Given the description of an element on the screen output the (x, y) to click on. 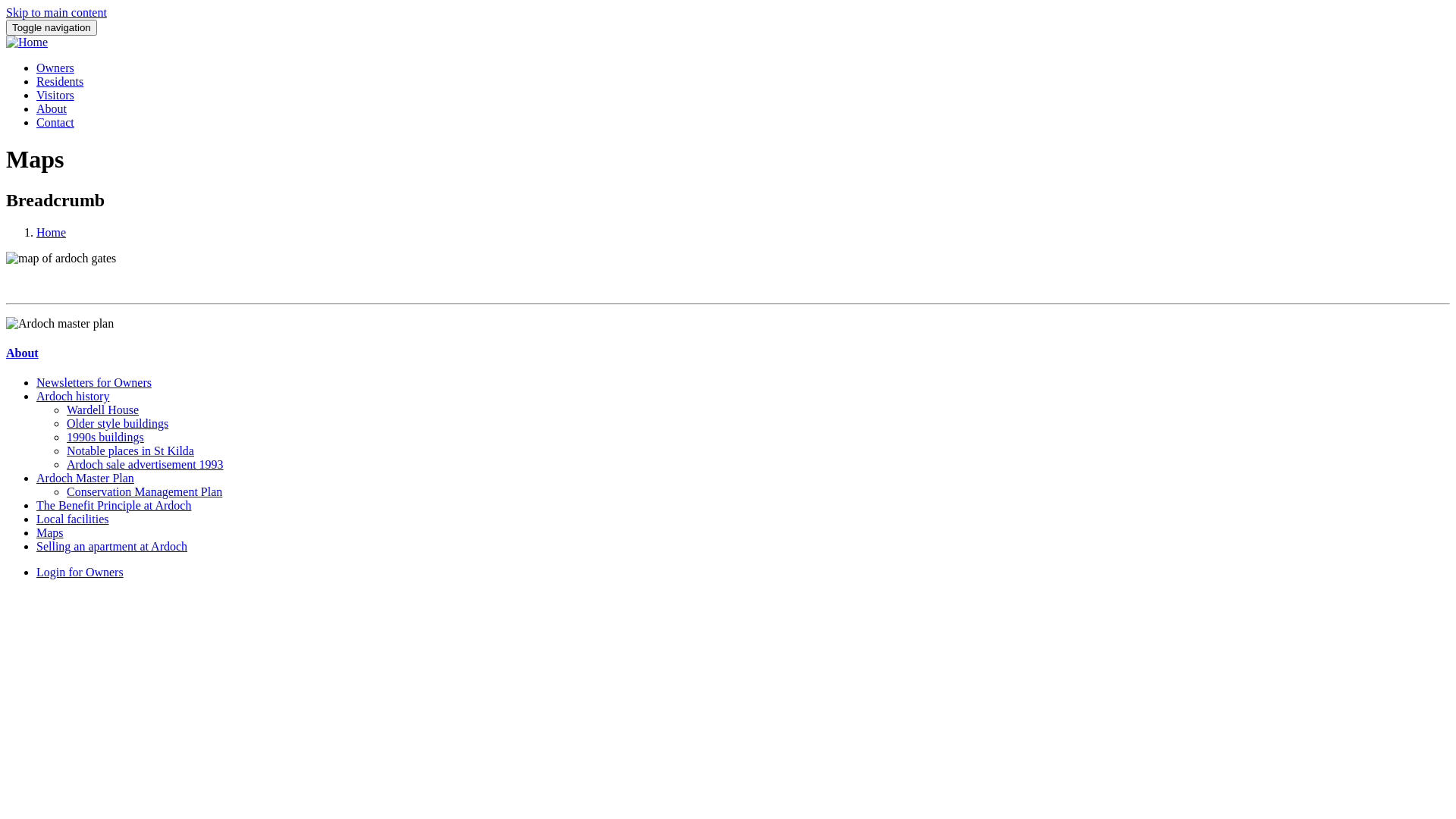
Contact Element type: text (55, 122)
Selling an apartment at Ardoch Element type: text (111, 545)
Owners Element type: text (55, 67)
Older style buildings Element type: text (117, 423)
Home Element type: hover (26, 41)
Residents Element type: text (59, 81)
Login for Owners Element type: text (79, 571)
About Element type: text (51, 108)
Home Element type: text (50, 231)
About Element type: text (22, 352)
Wardell House Element type: text (102, 409)
Ardoch sale advertisement 1993 Element type: text (144, 464)
The Benefit Principle at Ardoch Element type: text (113, 504)
Newsletters for Owners Element type: text (93, 382)
Notable places in St Kilda Element type: text (130, 450)
Ardoch Master Plan Element type: text (85, 477)
Visitors Element type: text (55, 94)
Toggle navigation Element type: text (51, 27)
Ardoch history Element type: text (72, 395)
map of ardoch gates Element type: hover (61, 258)
1990s buildings Element type: text (105, 436)
Maps Element type: text (49, 532)
Conservation Management Plan Element type: text (144, 491)
Skip to main content Element type: text (56, 12)
Local facilities Element type: text (72, 518)
